Given the description of an element on the screen output the (x, y) to click on. 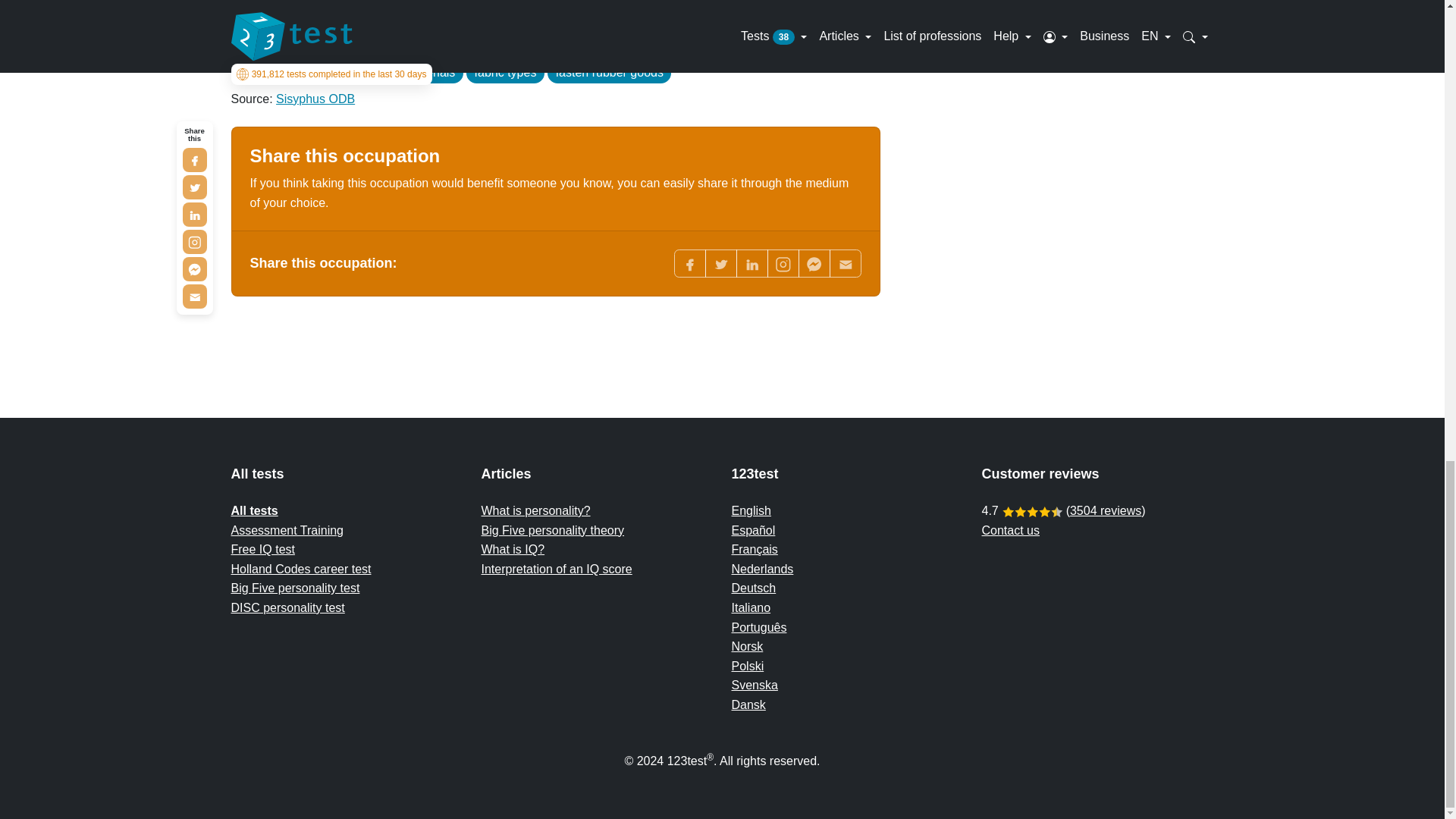
 Twitter (720, 263)
Instagram (783, 263)
 LinkedIn (751, 263)
Sisyphus ODB (315, 98)
 Facebook (688, 263)
